Given the description of an element on the screen output the (x, y) to click on. 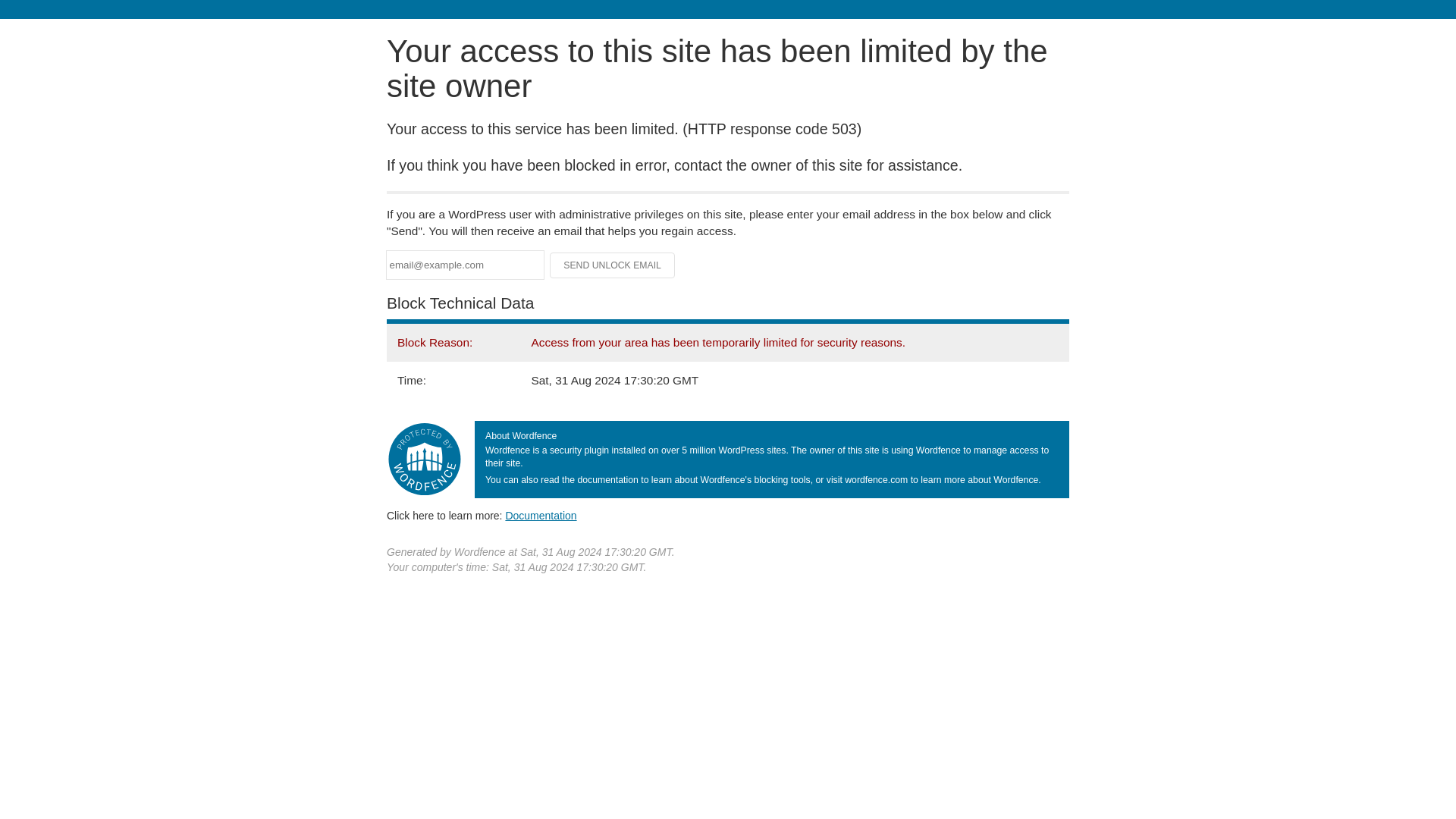
Send Unlock Email (612, 265)
Documentation (540, 515)
Send Unlock Email (612, 265)
